Given the description of an element on the screen output the (x, y) to click on. 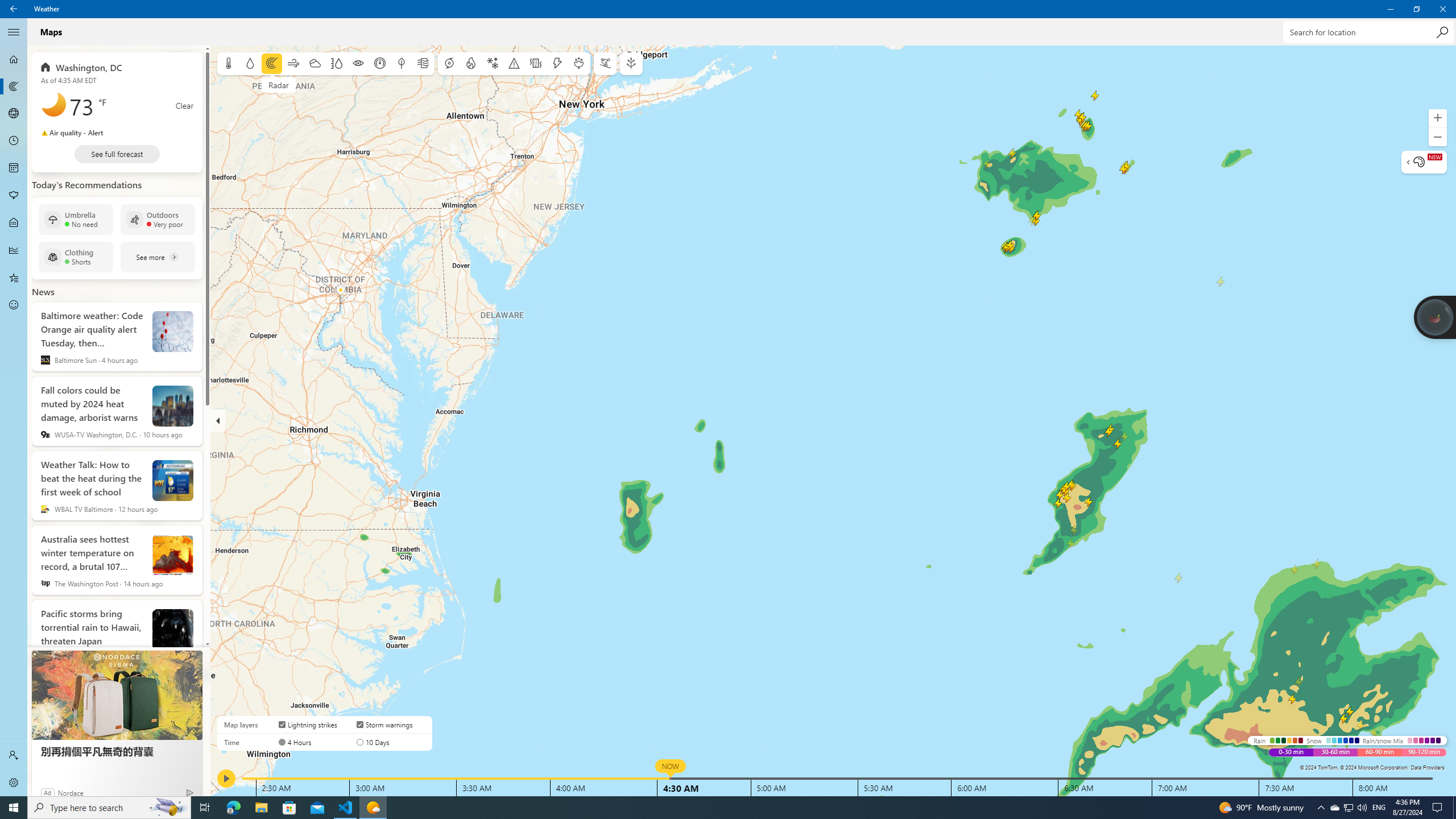
Send Feedback - Not Selected (13, 304)
Hourly Forecast - Not Selected (13, 140)
Search (1442, 31)
3D Maps - Not Selected (1333, 807)
Notification Chevron (13, 113)
Restore Weather (1320, 807)
Life - Not Selected (1416, 9)
Monthly Forecast - Not Selected (13, 222)
Favorites - Not Selected (13, 167)
Life - Not Selected (13, 277)
3D Maps - Not Selected (13, 222)
Start (13, 113)
Microsoft Store (13, 807)
Forecast - Not Selected (289, 807)
